Given the description of an element on the screen output the (x, y) to click on. 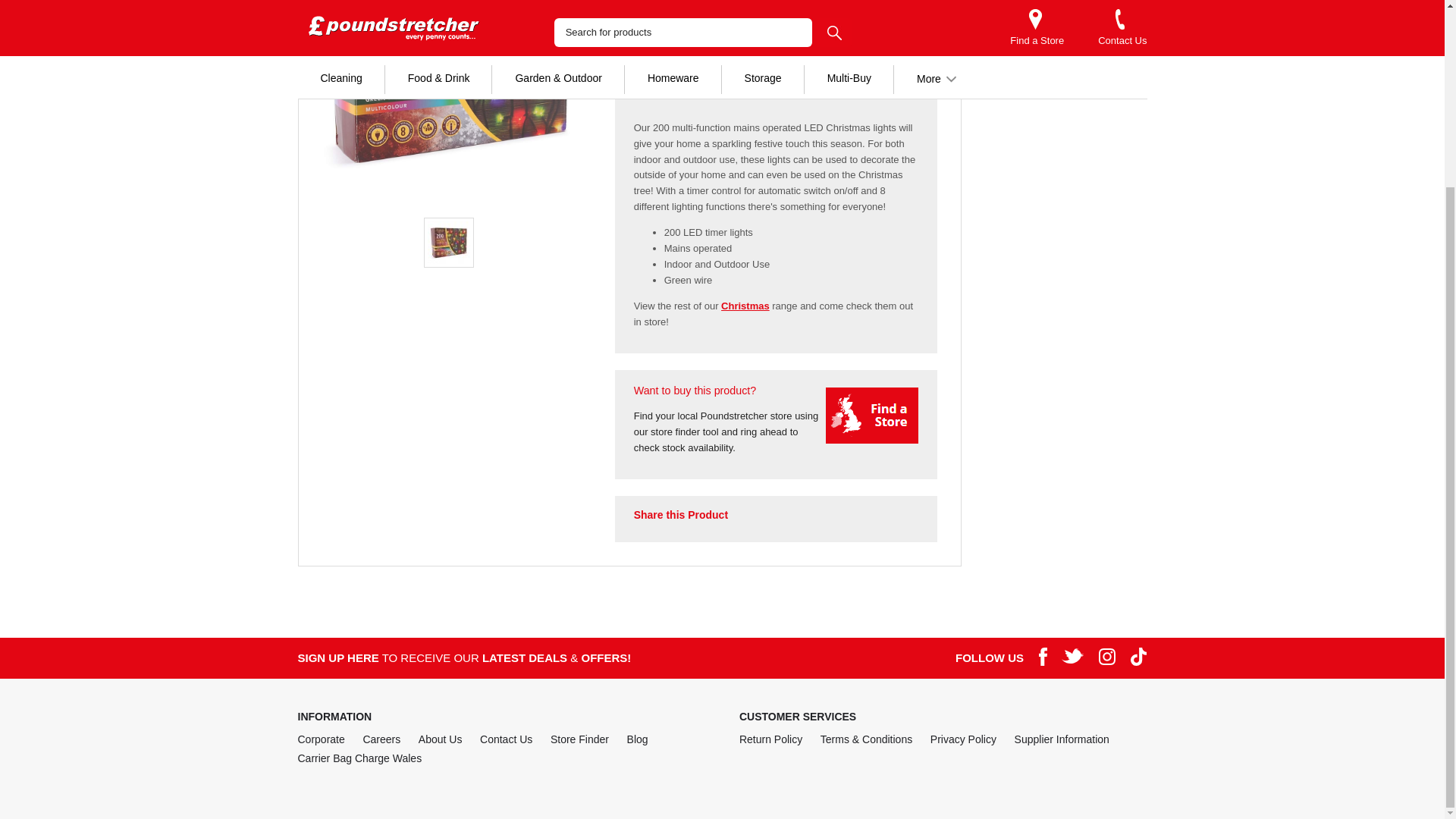
Advertisement (1067, 25)
200 GREEN WIRE MAINS OPERATED LED LIGHTS -MULTI (448, 101)
